Given the description of an element on the screen output the (x, y) to click on. 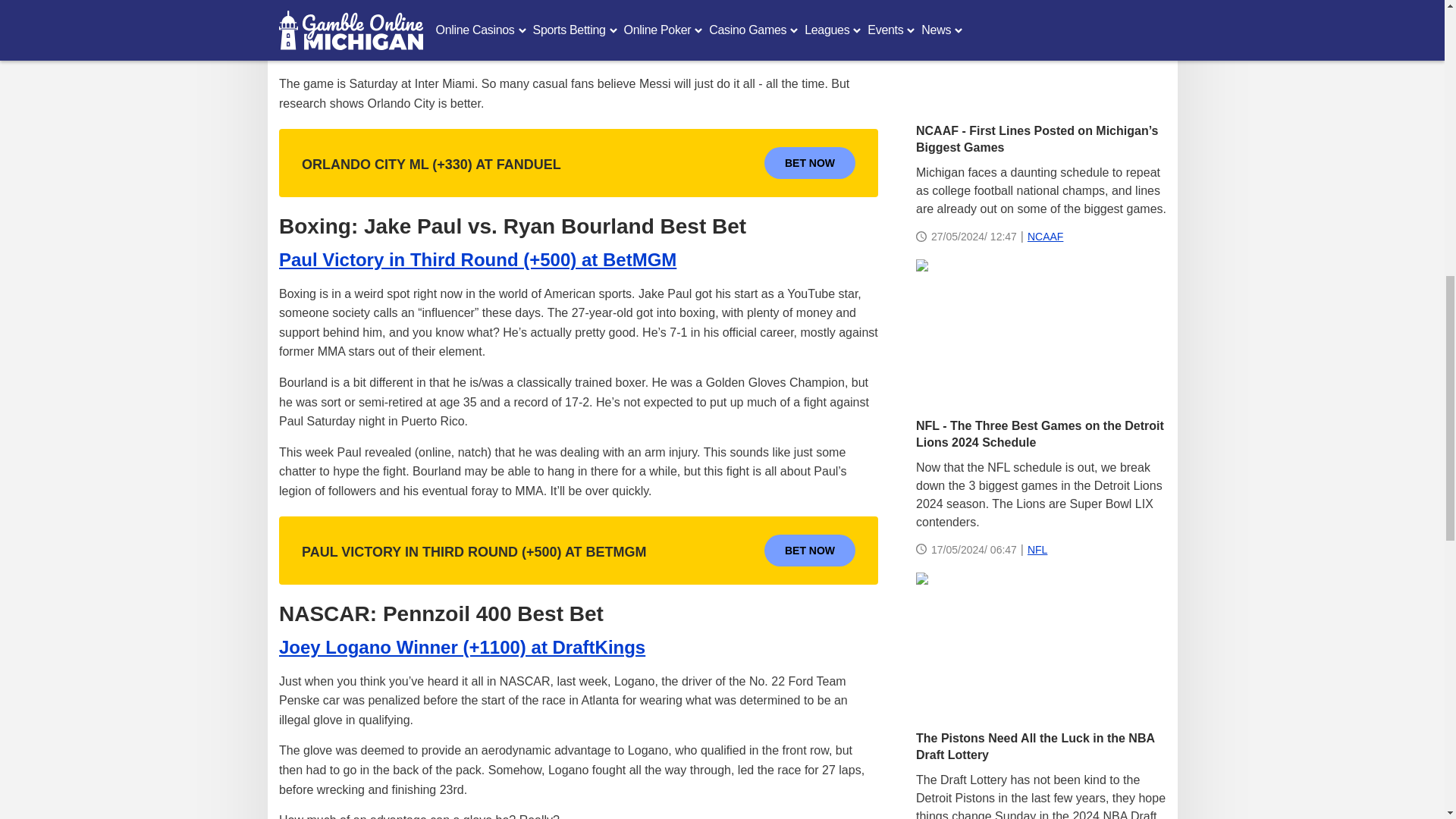
Michigan Wolverines Sports News (1040, 55)
Detroit Pistons Sport News (1040, 645)
Detroit Lions Sport News (1040, 332)
